Given the description of an element on the screen output the (x, y) to click on. 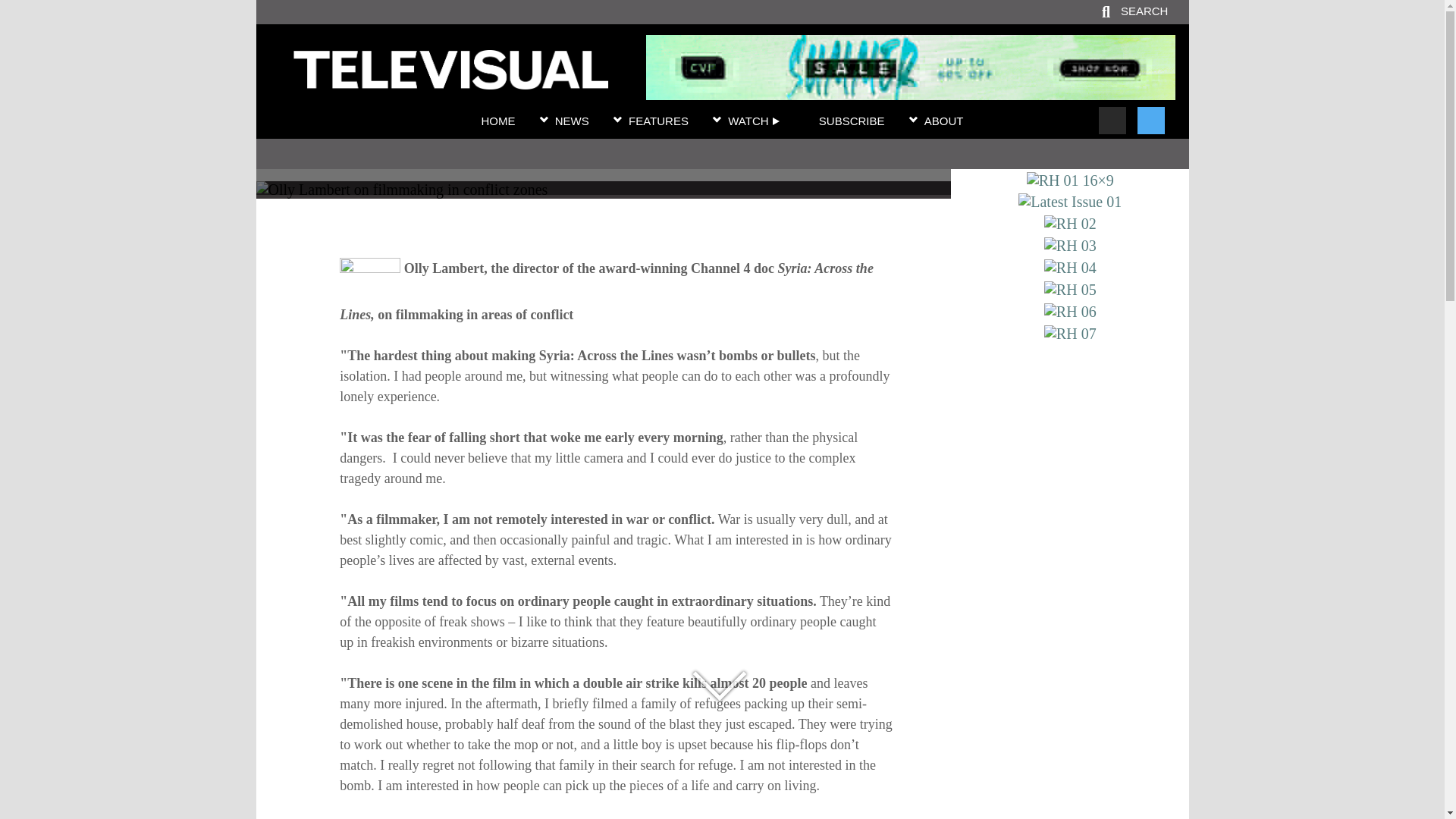
NEWS (571, 121)
Olly Lambert on filmmaking in conflict zones (603, 159)
SUBSCRIBE (851, 121)
Olly Lambert on filmmaking in conflict zones (451, 80)
FEATURES (658, 121)
HOME (497, 121)
WATCH (753, 121)
ABOUT (943, 121)
